Given the description of an element on the screen output the (x, y) to click on. 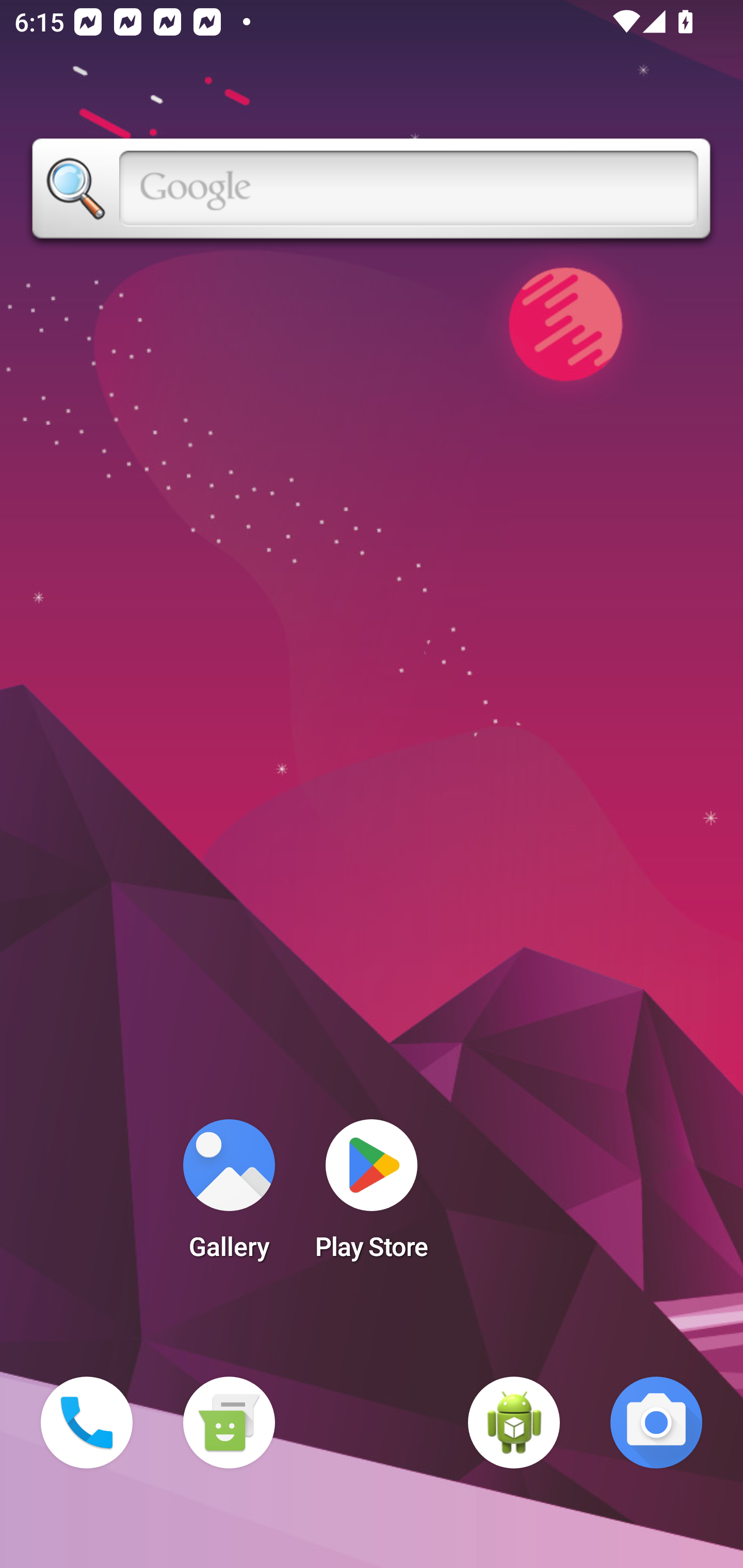
Gallery (228, 1195)
Play Store (371, 1195)
Phone (86, 1422)
Messaging (228, 1422)
WebView Browser Tester (513, 1422)
Camera (656, 1422)
